Given the description of an element on the screen output the (x, y) to click on. 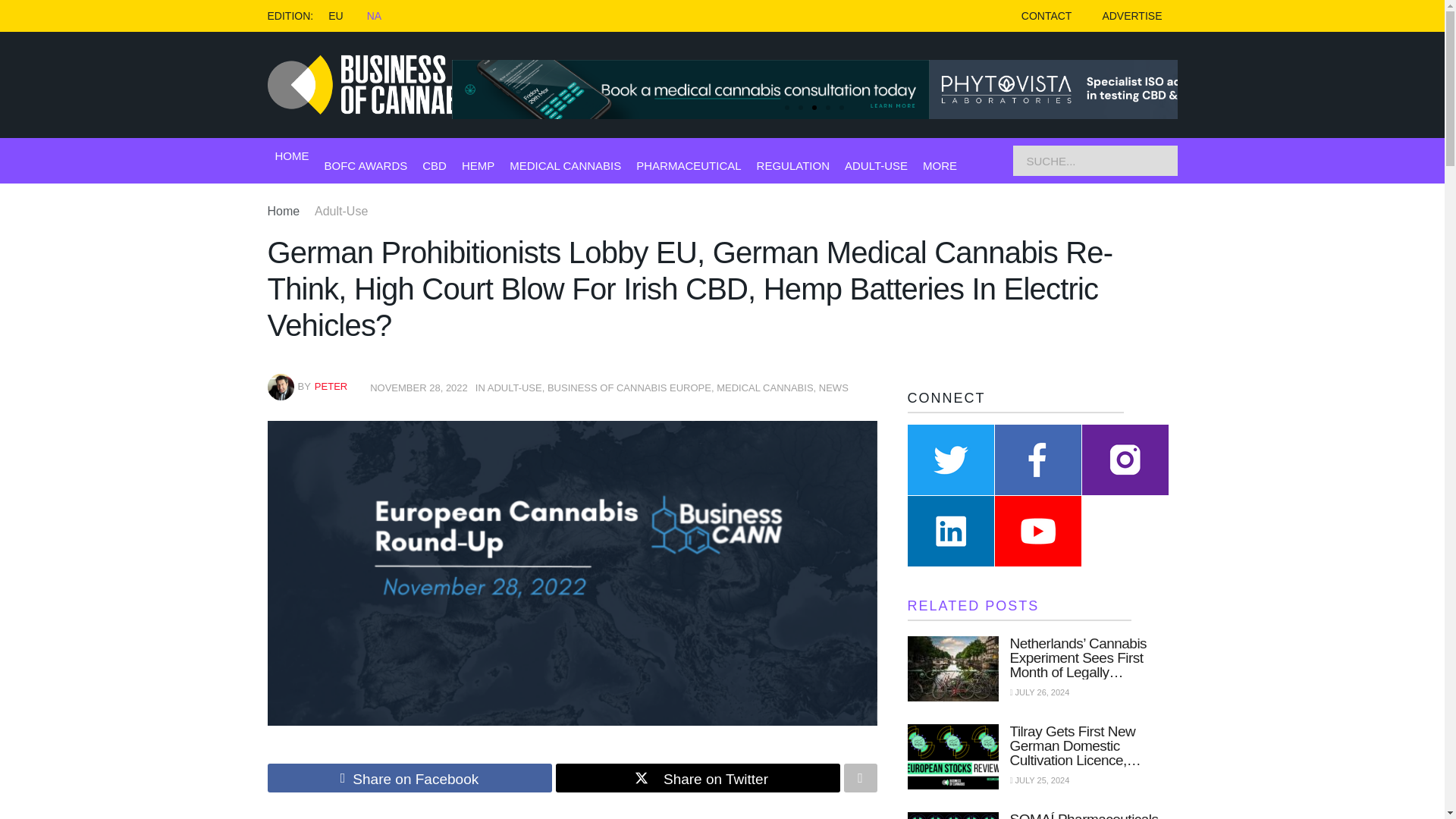
CONTACT (1046, 15)
HOME (291, 156)
ADVERTISE (1131, 15)
ADULT-USE (875, 165)
REGULATION (793, 165)
MEDICAL CANNABIS (565, 165)
HEMP (478, 165)
CBD (434, 165)
PHARMACEUTICAL (688, 165)
MORE (939, 165)
BOFC AWARDS (365, 165)
